Given the description of an element on the screen output the (x, y) to click on. 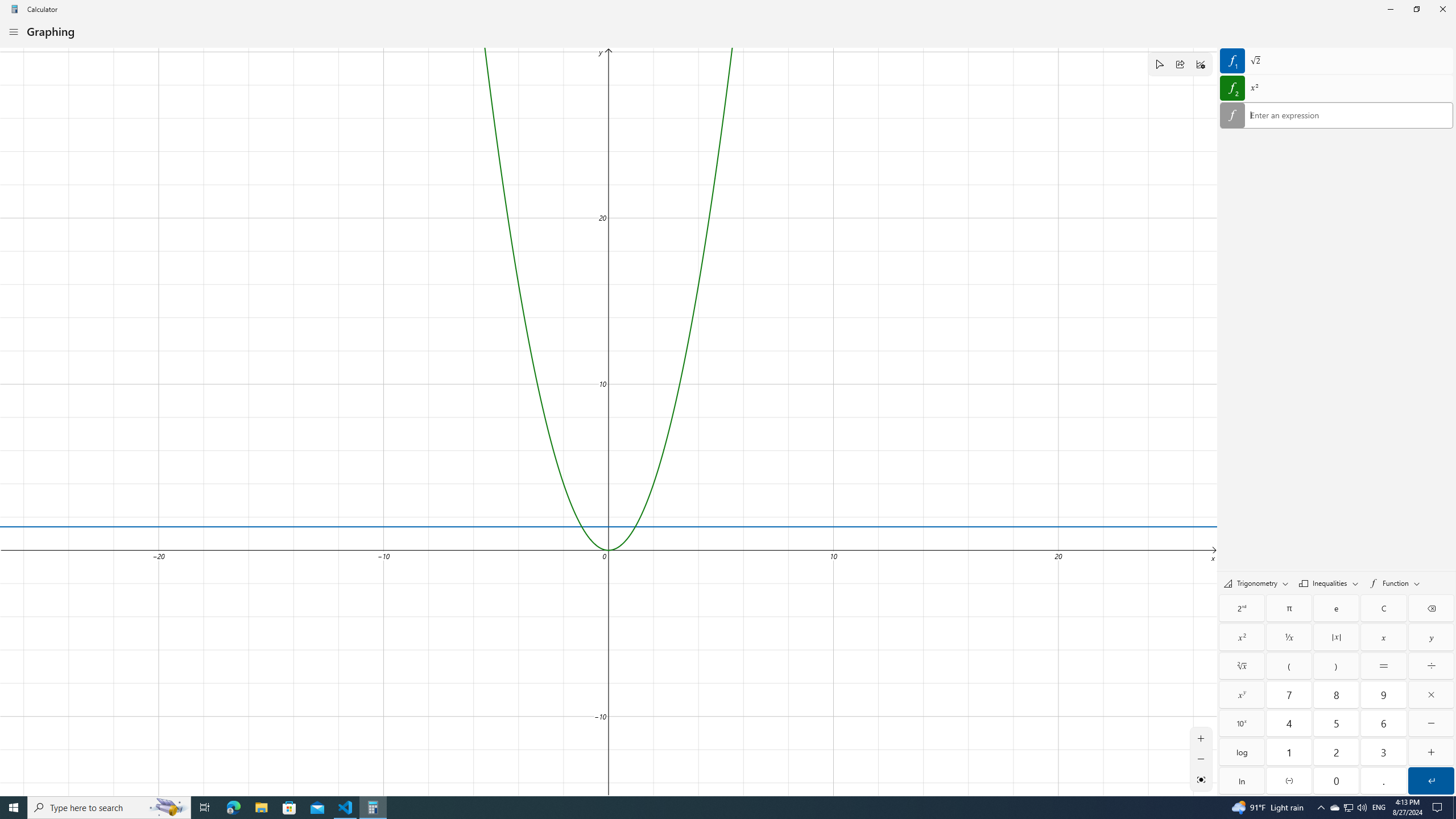
Inequalities (1329, 582)
Pi (1288, 608)
Minus (1430, 723)
Trigonometry (1255, 582)
One (1288, 751)
'X' to the exponent (1241, 694)
Equals (1382, 665)
Close Calculator (1442, 9)
Four (1288, 723)
Three (1382, 751)
Euler's number (1336, 608)
